Given the description of an element on the screen output the (x, y) to click on. 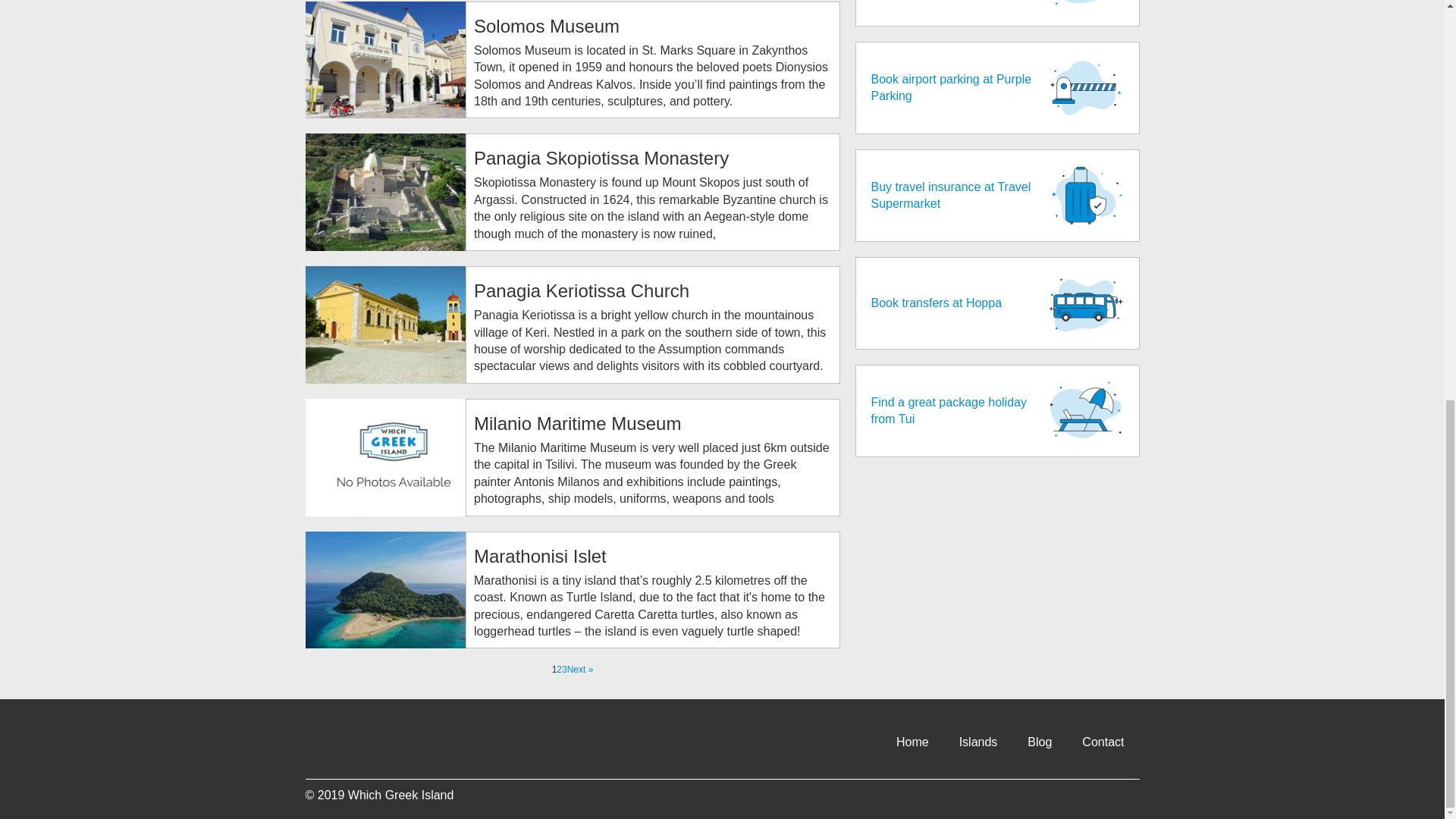
Hire a car at the best prices using Holiday Autos (998, 13)
Buy travel insurance at Travel Supermarket (998, 195)
Milanio Maritime Museum (577, 423)
Solomos Museum (547, 25)
Find a great package holiday from Tui (998, 410)
Panagia Keriotissa Church (581, 290)
Panagia Skopiotissa Monastery (601, 158)
Book transfers at Hoppa (998, 303)
Book airport parking at Purple Parking (998, 87)
Marathonisi Islet (540, 556)
